Given the description of an element on the screen output the (x, y) to click on. 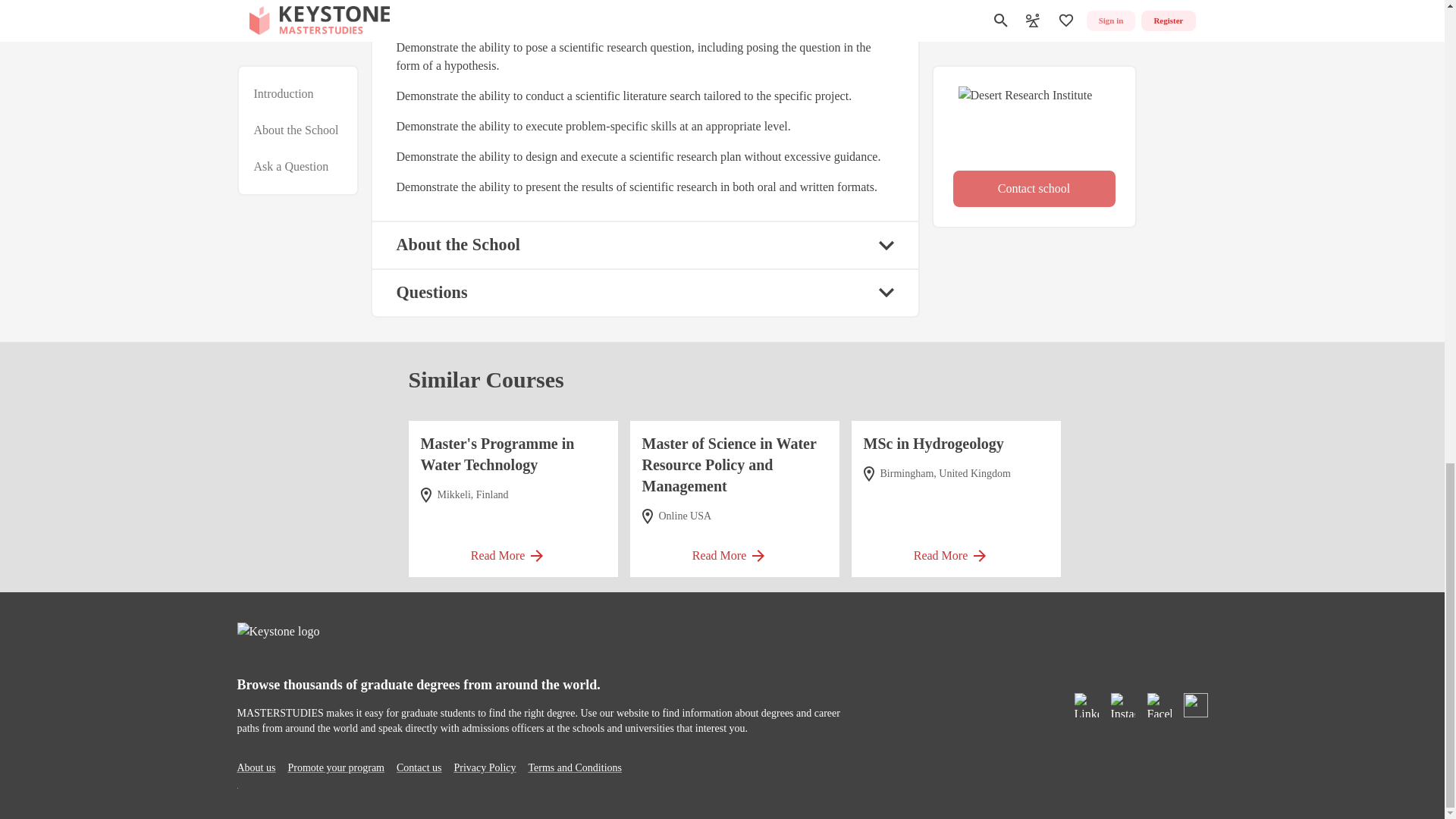
Read More (955, 550)
Read More (734, 550)
About us (255, 767)
Read More (512, 550)
